Given the description of an element on the screen output the (x, y) to click on. 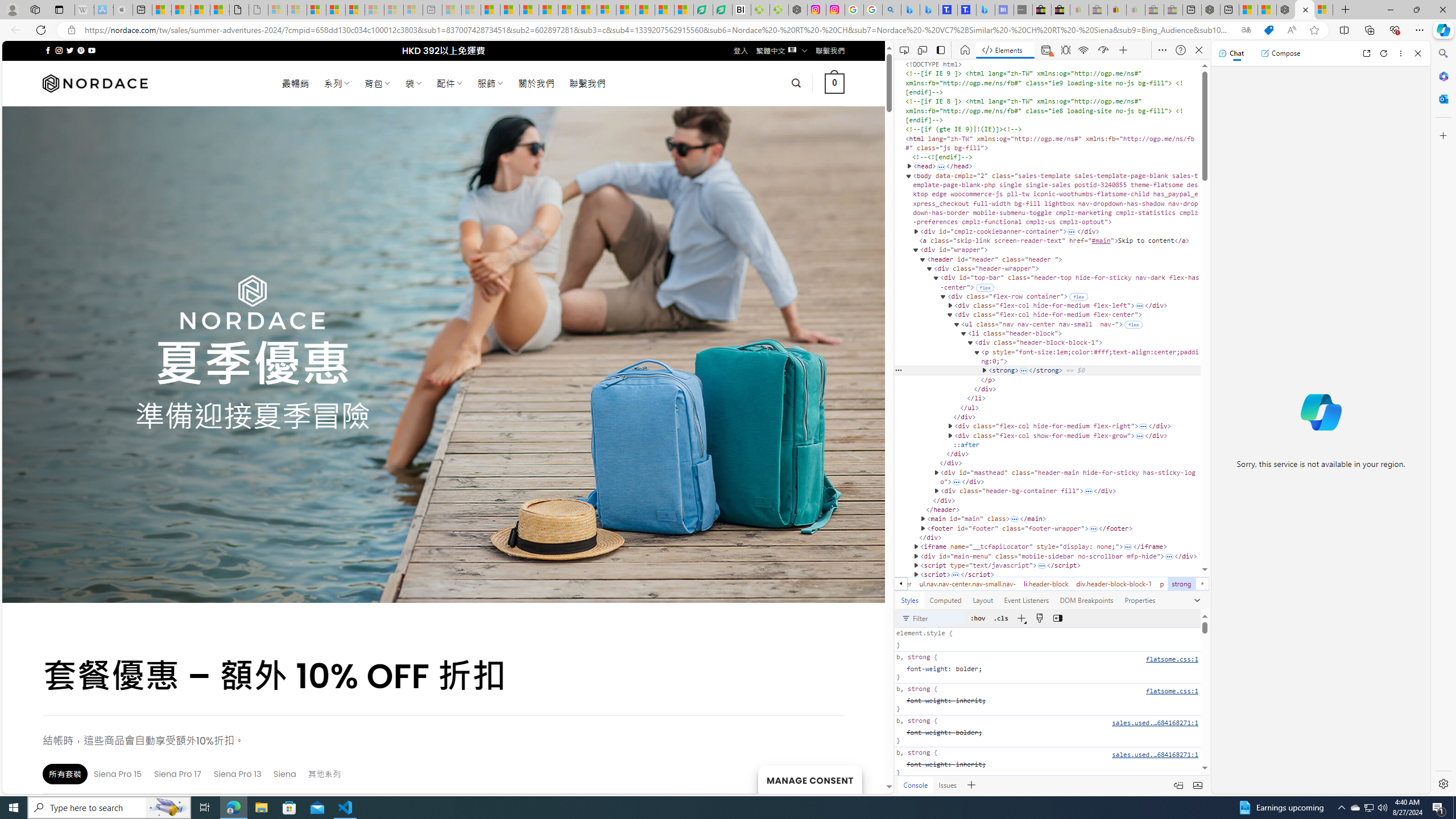
Microsoft 365 (1442, 76)
Settings and more (Alt+F) (1419, 29)
Sign in to your Microsoft account (1323, 9)
Follow on Twitter (68, 50)
US Heat Deaths Soared To Record High Last Year (625, 9)
Toggle device emulation (922, 49)
p (1161, 583)
Buy iPad - Apple - Sleeping (123, 9)
Nordace - Nordace Edin Collection (797, 9)
Microsoft Start (644, 9)
